Given the description of an element on the screen output the (x, y) to click on. 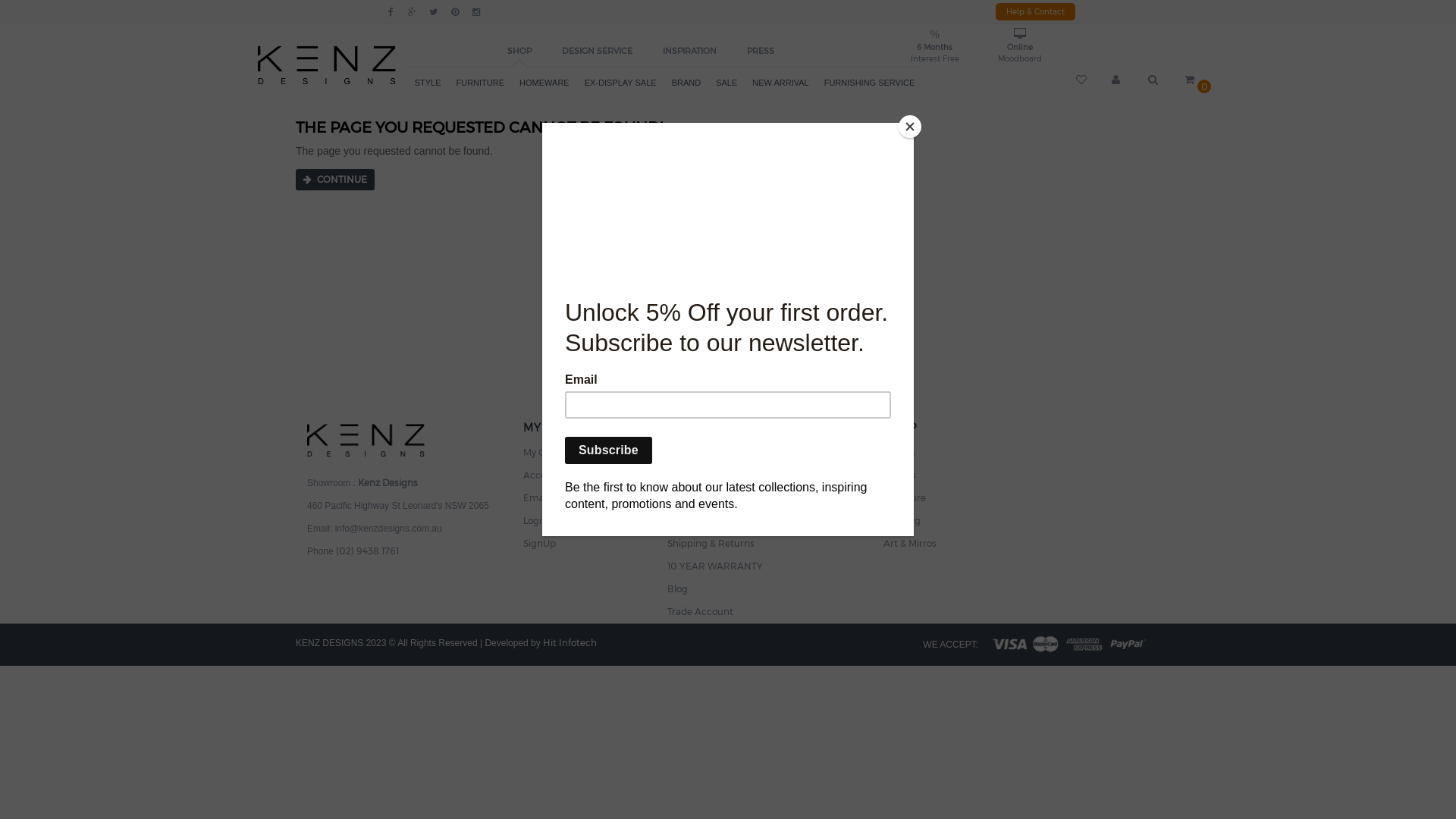
STYLE Element type: text (427, 82)
Terms & Conditions Element type: text (710, 518)
CONTINUE Element type: text (334, 179)
%
6 Months
Interest Free Element type: text (934, 47)
About Us Element type: text (688, 450)
Google + Element type: hover (411, 11)
Email Preferences Element type: text (564, 495)
(02) 9438 1761 Element type: text (366, 548)
Pinterest Element type: hover (454, 11)
HOMEWARE Element type: text (544, 82)
Rooms Element type: text (899, 450)
10 YEAR WARRANTY Element type: text (714, 563)
Trade Account Element type: text (700, 609)
PRESS Element type: text (760, 50)
Kenz Designs Element type: hover (326, 63)
Hit Infotech Element type: text (569, 640)
Facebook Element type: hover (389, 11)
Privacy Policy Element type: text (697, 495)
FURNISHING SERVICE Element type: text (869, 82)
instagram Element type: hover (476, 11)
DESIGN SERVICE Element type: text (596, 50)
BRAND Element type: text (686, 82)
Brands Element type: text (899, 472)
EX-DISPLAY SALE Element type: text (620, 82)
Favorite Element type: hover (1082, 79)
FURNITURE Element type: text (480, 82)
Contact Element type: text (684, 472)
Art & Mirros Element type: text (909, 541)
Blog Element type: text (677, 586)
0 Element type: text (1189, 79)
CONTINUE Element type: text (334, 178)
SignUp Element type: text (539, 541)
Furniture Element type: text (904, 495)
NEW ARRIVAL Element type: text (779, 82)
Account Element type: hover (1118, 79)
Help & Contact Element type: text (1034, 11)
Online
Moodboard Element type: text (1020, 47)
INSPIRATION Element type: text (689, 50)
Lighting Element type: text (901, 518)
Login Element type: text (535, 518)
SHOP Element type: text (519, 50)
My Order Element type: text (543, 450)
Shipping & Returns Element type: text (710, 541)
Account Setting Element type: text (559, 472)
SALE Element type: text (726, 82)
Twitter Element type: hover (432, 11)
Search Element type: hover (1154, 79)
